Given the description of an element on the screen output the (x, y) to click on. 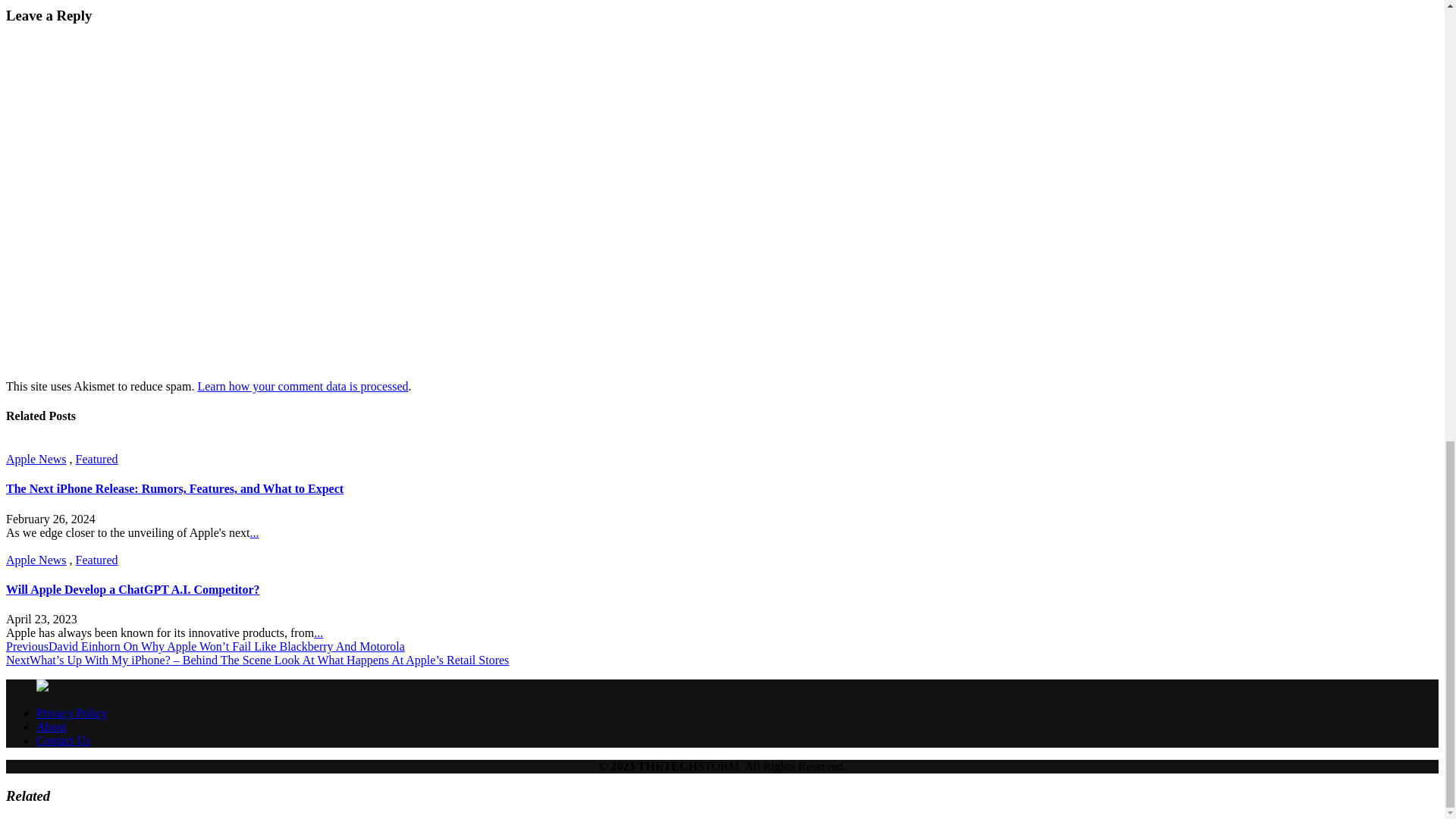
Featured (96, 459)
Featured (96, 559)
Learn how your comment data is processed (301, 386)
Apple News (35, 459)
Apple News (35, 559)
Will Apple Develop a ChatGPT A.I. Competitor? (132, 589)
